Given the description of an element on the screen output the (x, y) to click on. 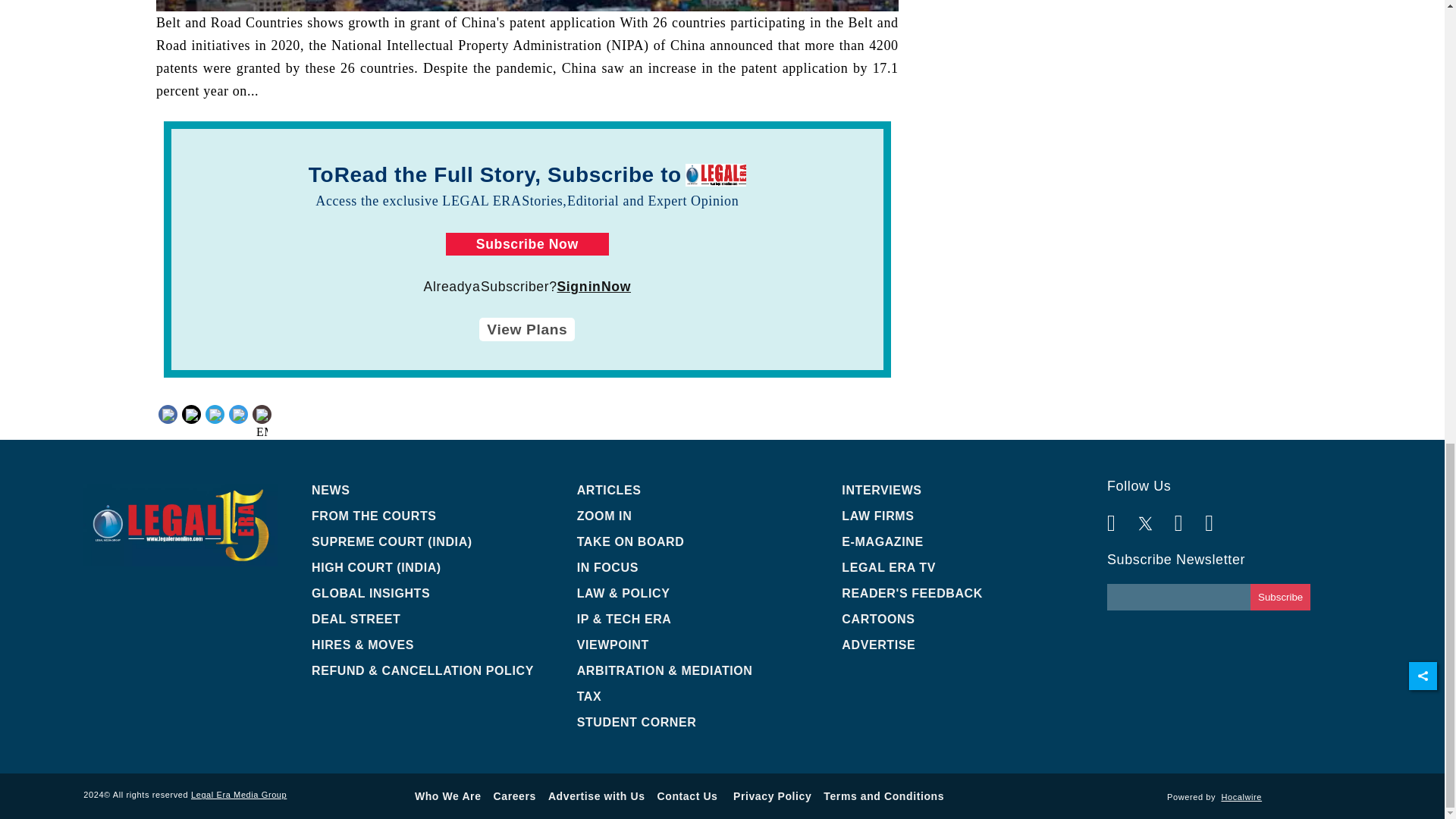
facebook (195, 425)
Facebook (196, 412)
twitter (213, 425)
Twitter (214, 412)
linkedin (239, 425)
Subscribe (1280, 596)
LinkedIn (240, 412)
